Given the description of an element on the screen output the (x, y) to click on. 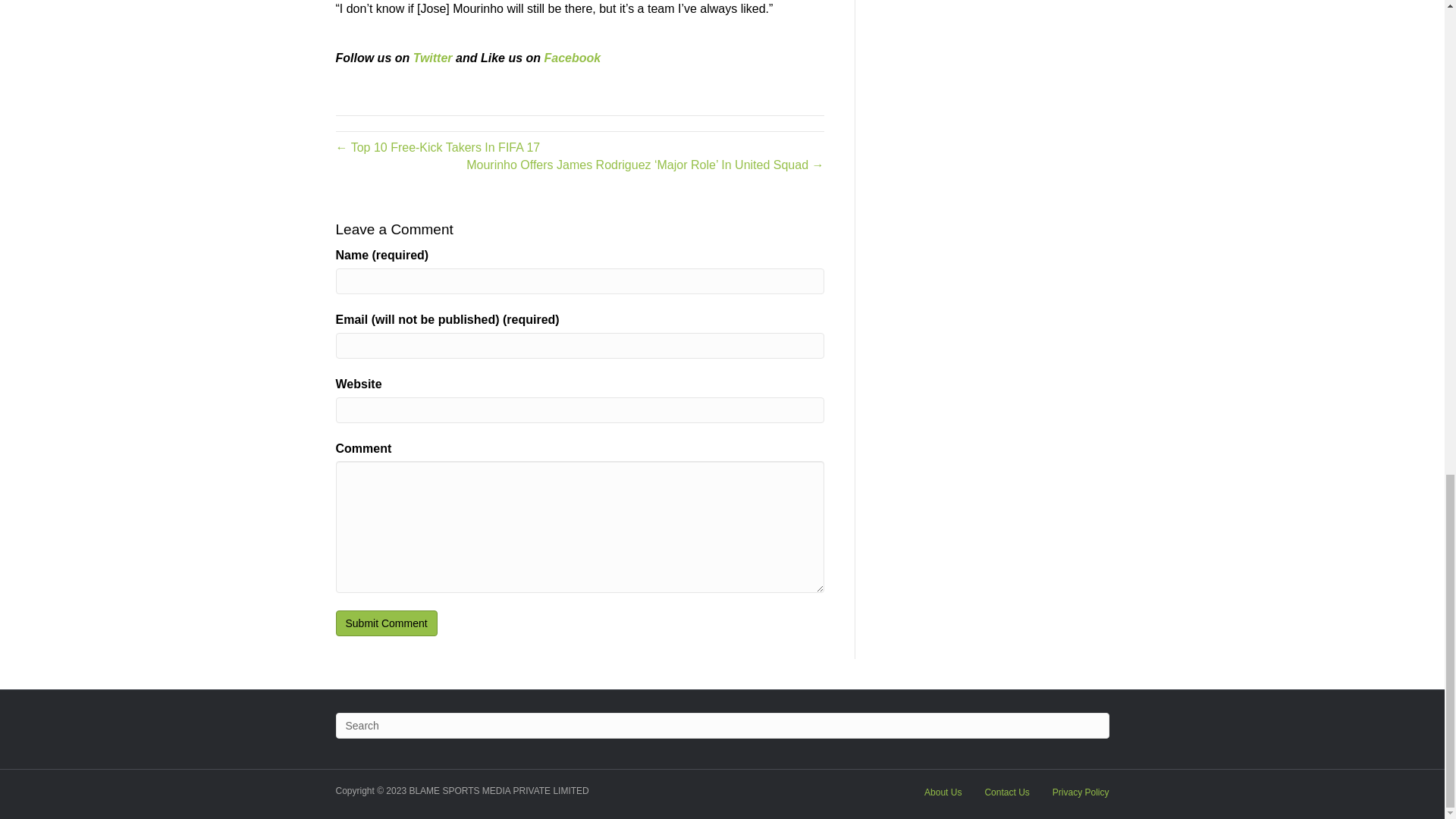
Type and press Enter to search. (721, 725)
Search (721, 725)
Submit Comment (385, 623)
Search (721, 725)
